Given the description of an element on the screen output the (x, y) to click on. 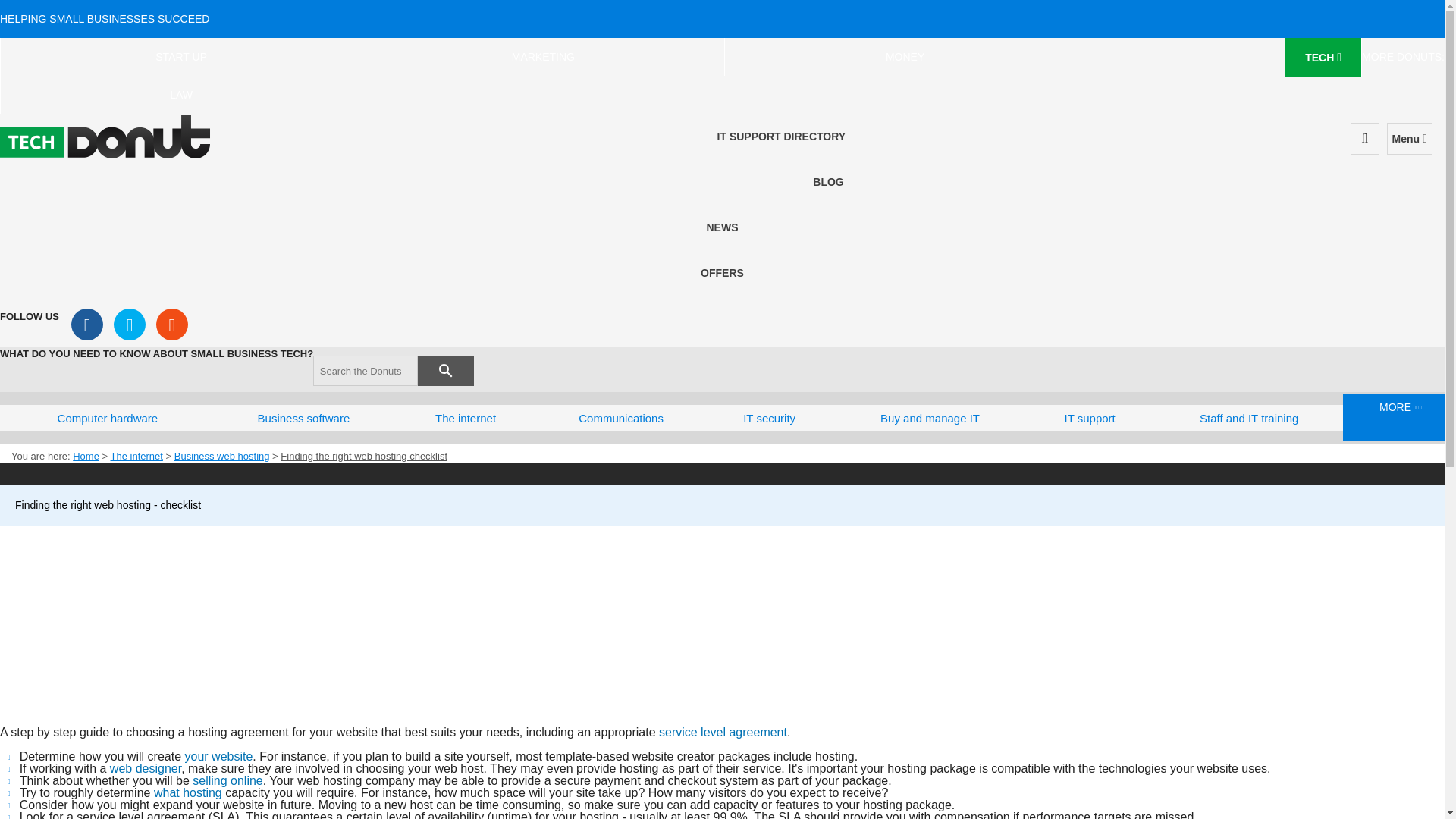
Business software (303, 417)
The internet (464, 417)
Menu (1409, 138)
Enter the terms you wish to search for. (365, 370)
Your website (218, 756)
IT security (769, 417)
Types of web hosting (202, 792)
MORE (1399, 417)
BLOG (827, 182)
TECH (1322, 56)
